Given the description of an element on the screen output the (x, y) to click on. 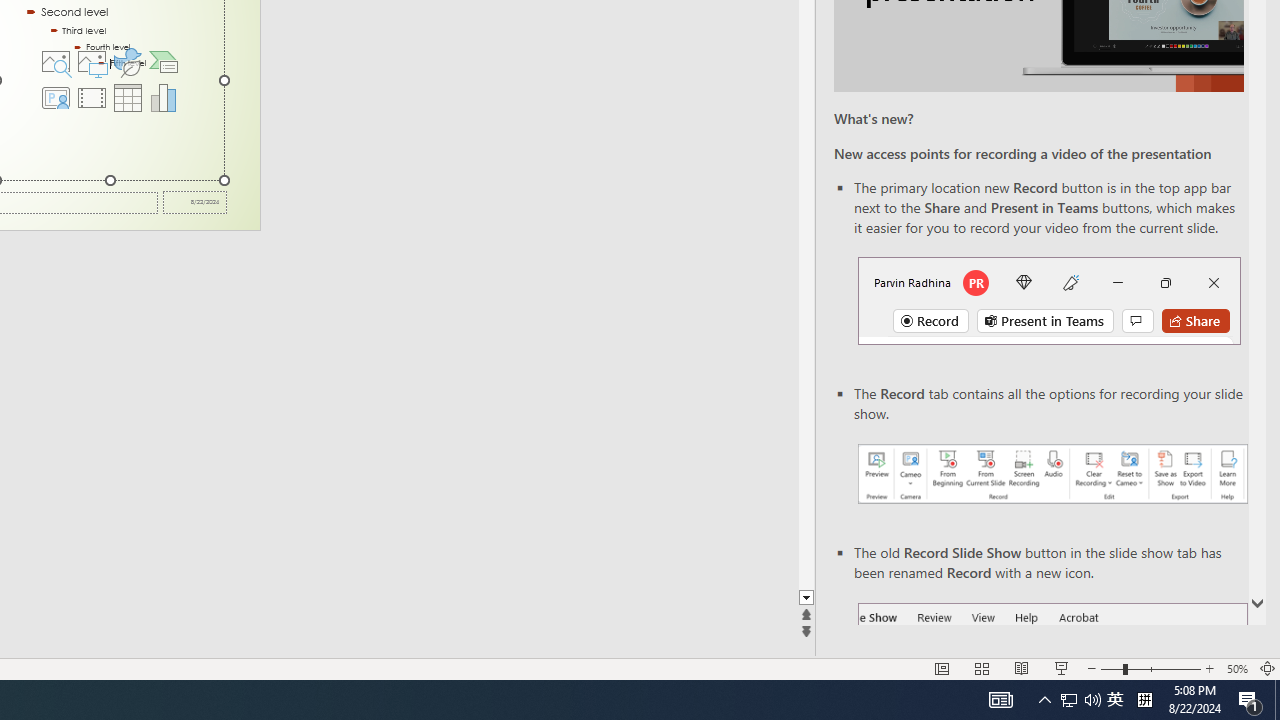
Insert Cameo (55, 97)
Record button in top bar (1049, 300)
Date (194, 201)
Zoom 50% (1236, 668)
